Given the description of an element on the screen output the (x, y) to click on. 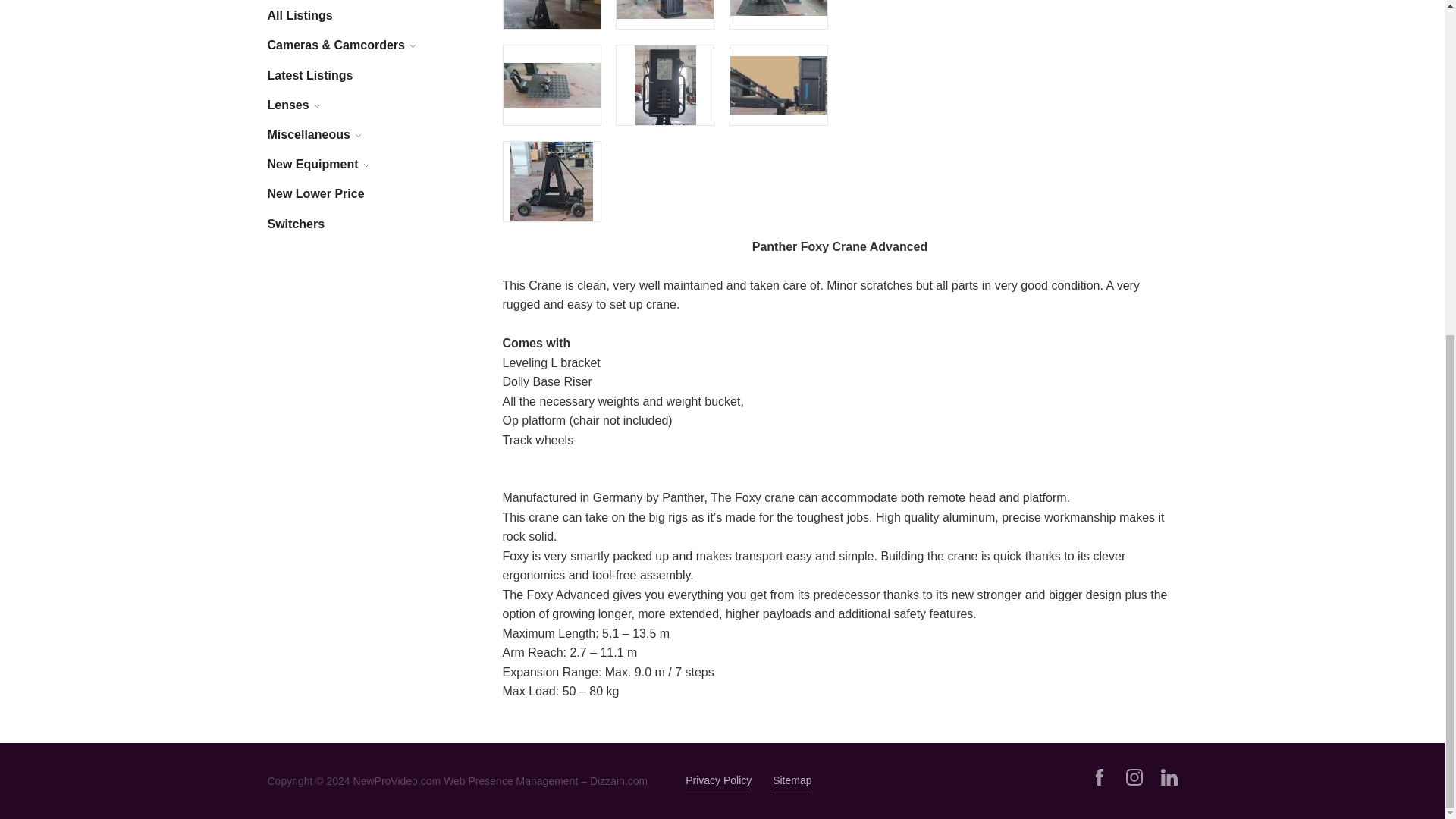
Panther Foxy Advanced Crane  (664, 9)
Panther Foxy Advanced Crane  (778, 7)
Panther Foxy Advanced Crane  (551, 85)
Panther Foxy Advanced Crane  (551, 14)
Panther Foxy Advanced Crane  (664, 85)
